Given the description of an element on the screen output the (x, y) to click on. 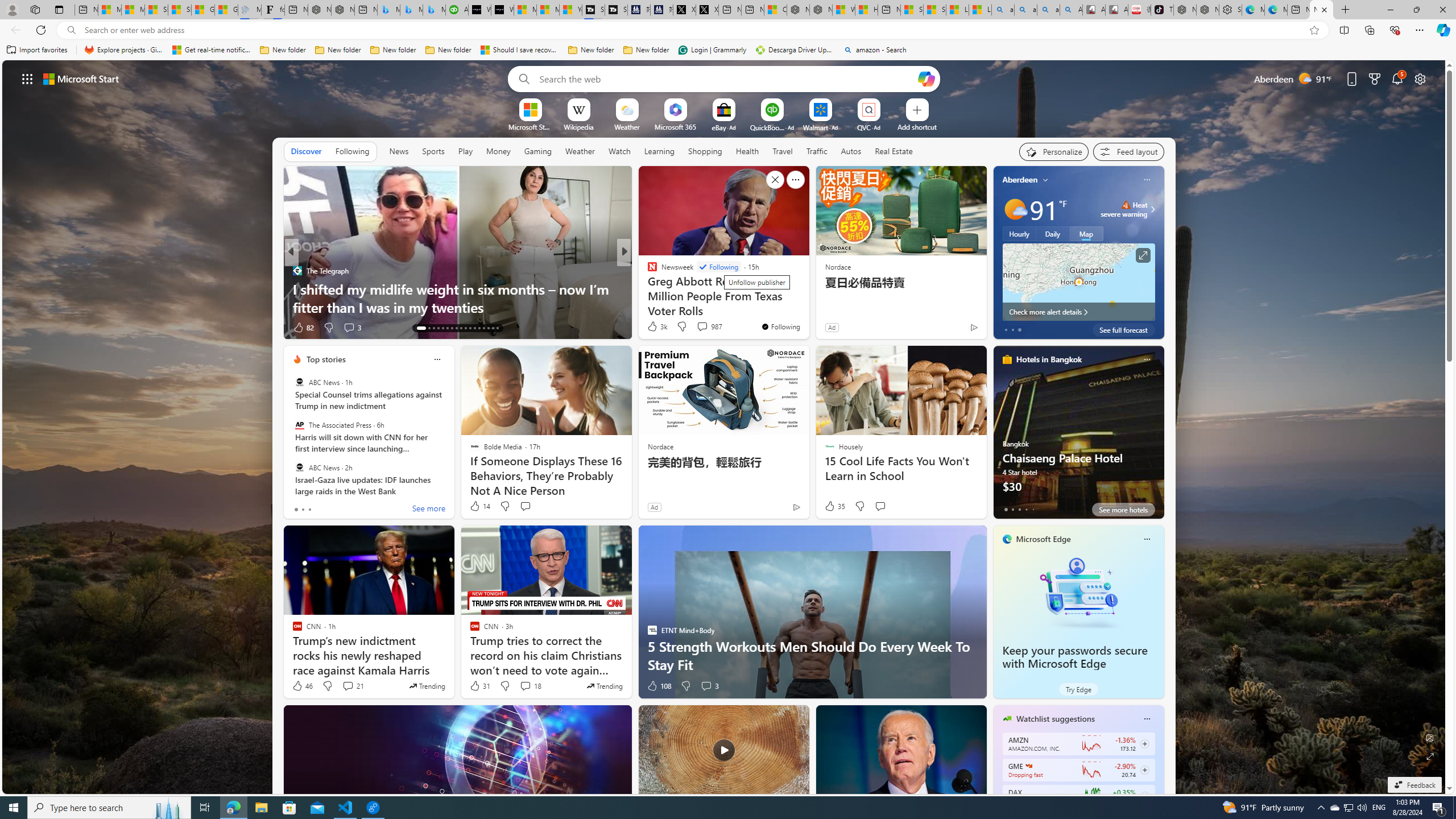
Amazon Echo Robot - Search Images (1071, 9)
tab-0 (1005, 509)
Mostly sunny (1014, 208)
AutomationID: tab-23 (470, 328)
69 Like (652, 327)
AutomationID: tab-17 (442, 328)
